Given the description of an element on the screen output the (x, y) to click on. 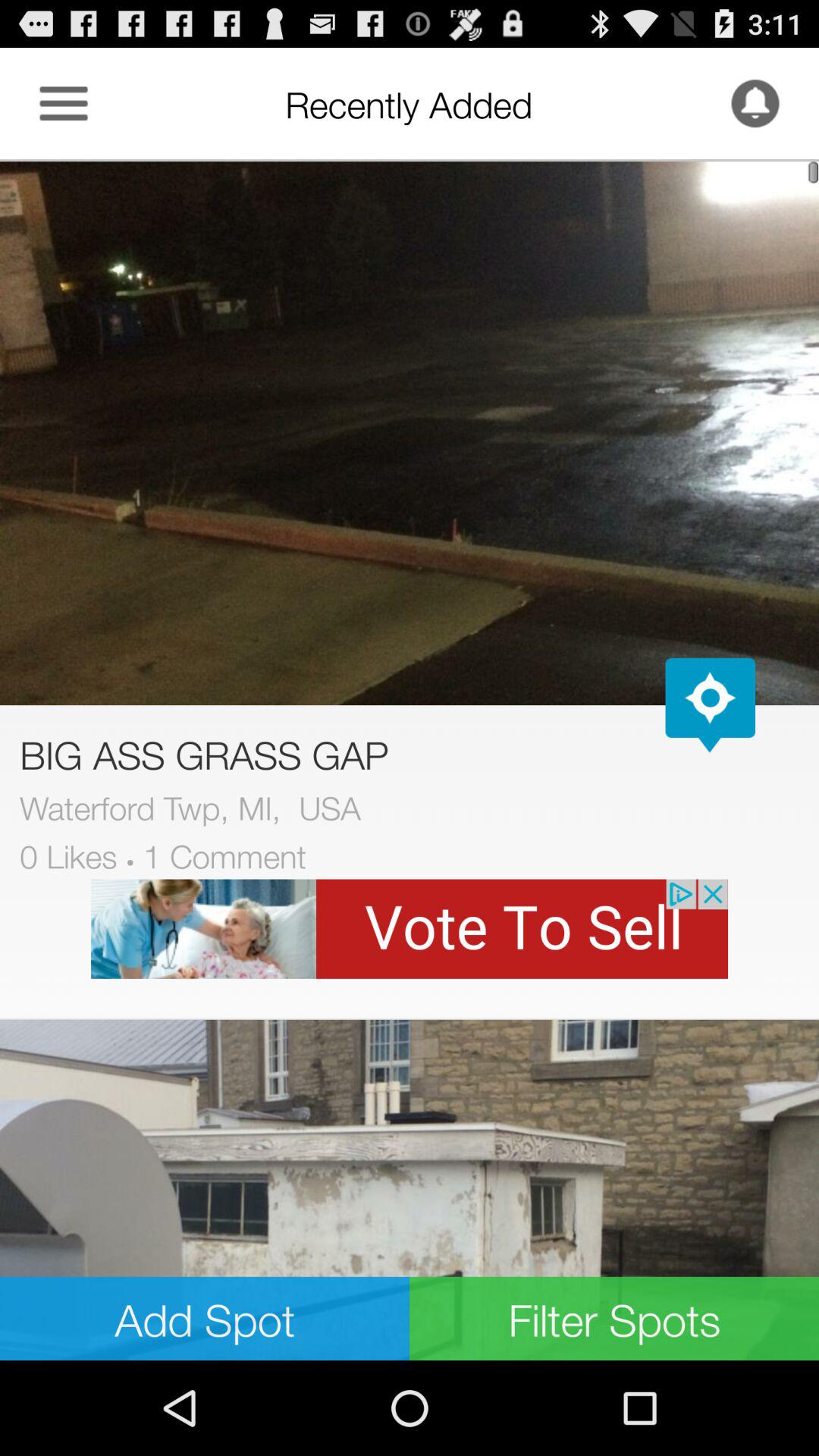
toggle autoplay option (710, 705)
